Given the description of an element on the screen output the (x, y) to click on. 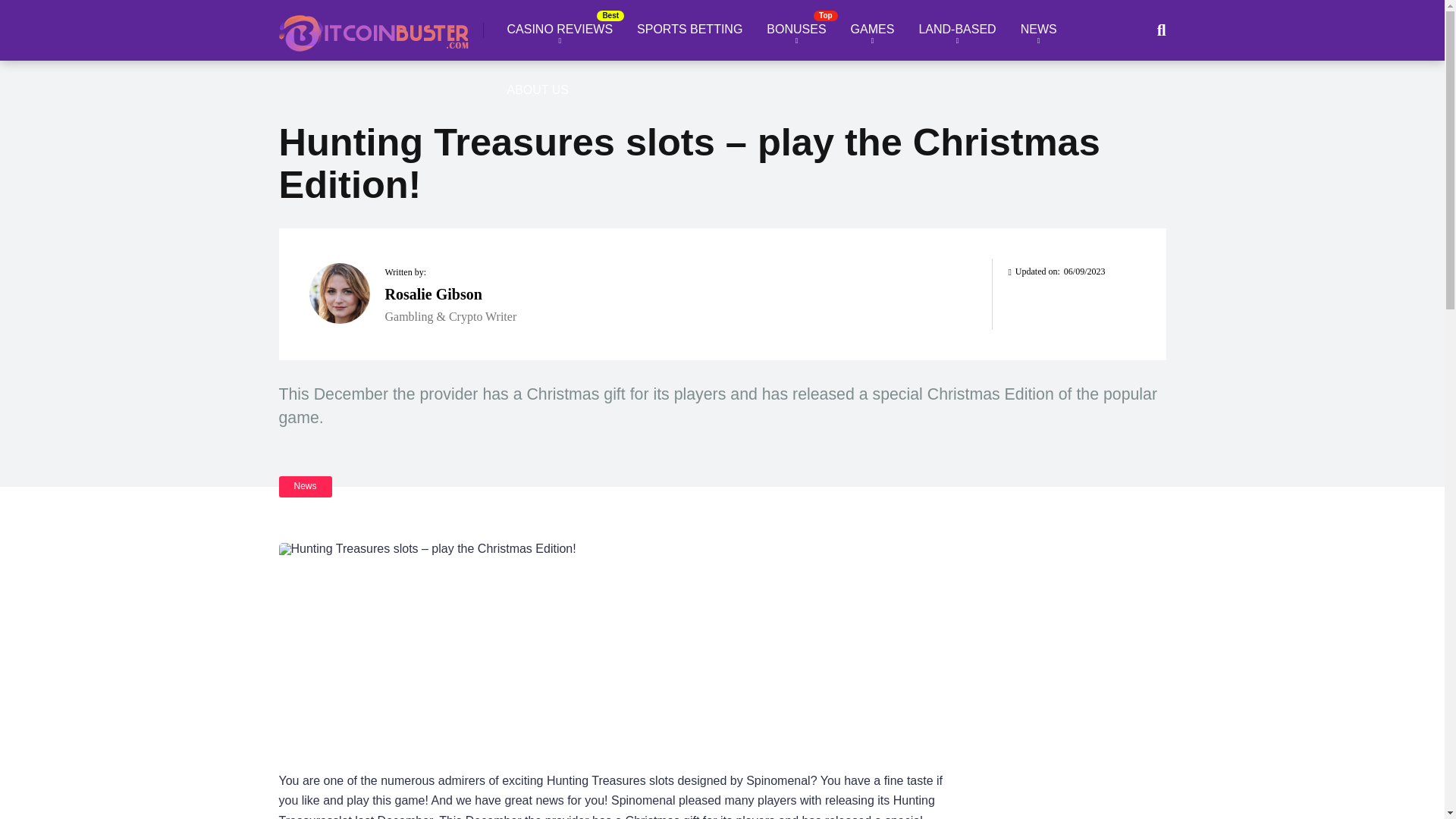
CASINO REVIEWS (559, 30)
NEWS (1038, 30)
BitcoinBuster.com (373, 27)
BONUSES (796, 30)
ABOUT US (537, 90)
News (305, 485)
SPORTS BETTING (689, 30)
GAMES (872, 30)
LAND-BASED (956, 30)
